Given the description of an element on the screen output the (x, y) to click on. 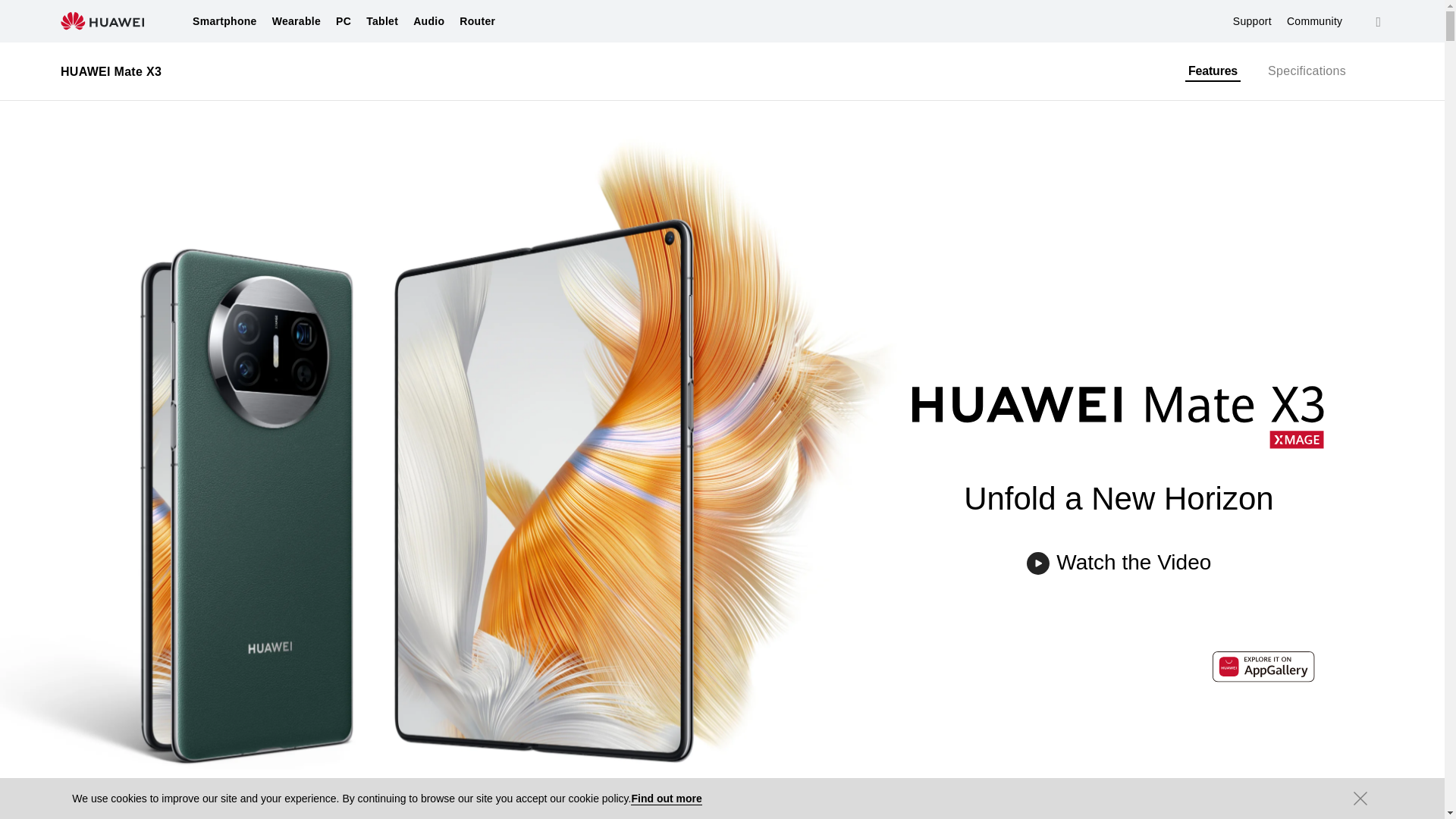
Wearable (296, 21)
Audio (428, 21)
Features (1212, 71)
Wearable (296, 21)
Find out more (665, 798)
Tablet (381, 21)
Search (1378, 21)
app gallery (1263, 669)
Support (1252, 21)
Support (1252, 21)
Router (477, 21)
Tablet (381, 21)
PC (343, 21)
Specifications (1307, 71)
Smartphone (224, 21)
